Given the description of an element on the screen output the (x, y) to click on. 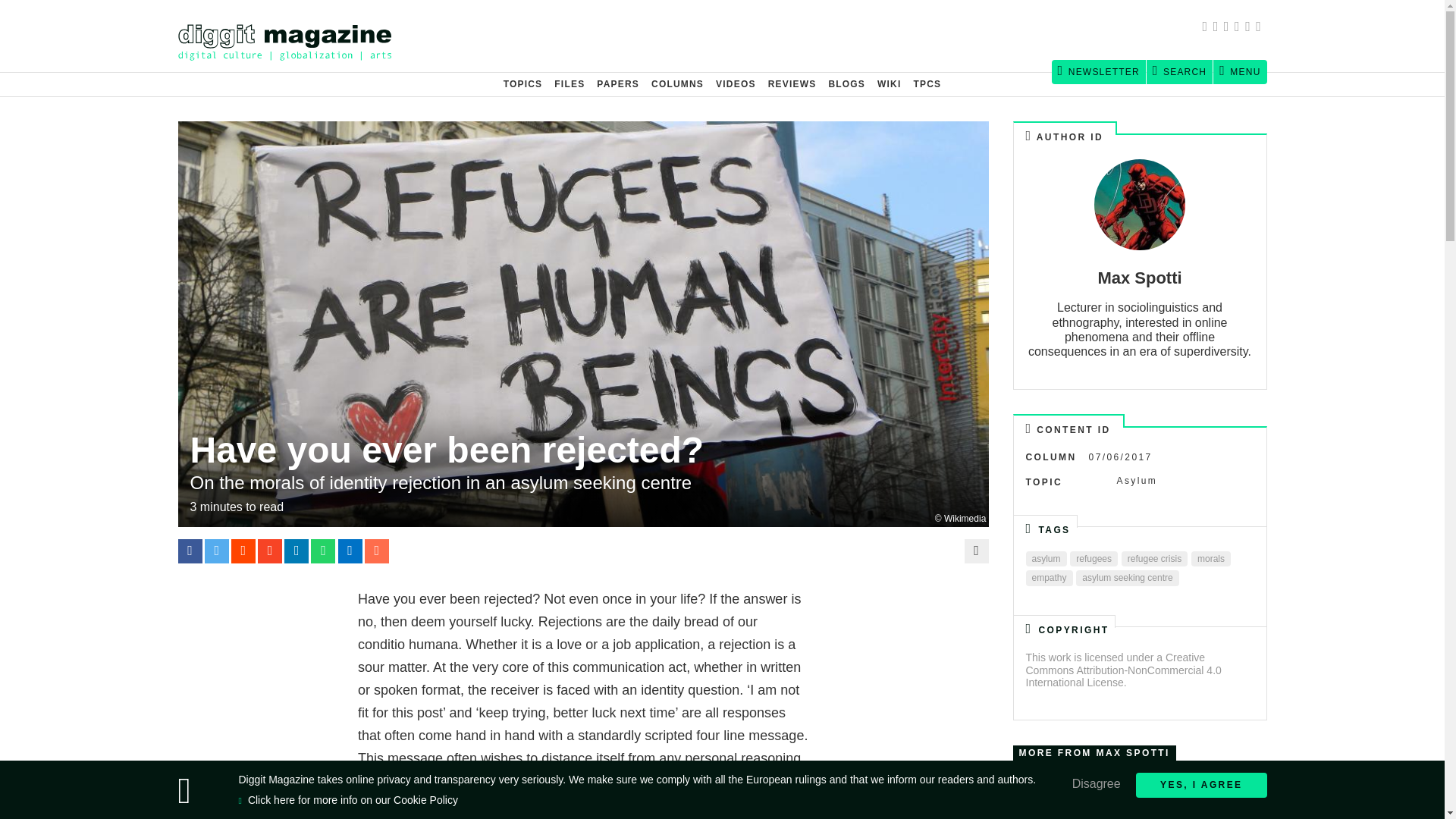
FACEBOOK (1207, 27)
YOUTUBE (1260, 27)
PAPERS (618, 83)
FILES (569, 83)
COLUMNS (677, 83)
LINKEDIN (1249, 27)
Max Spotti's picture (1139, 204)
STUMBLEUPON (1239, 27)
TWITTER (1218, 27)
